Given the description of an element on the screen output the (x, y) to click on. 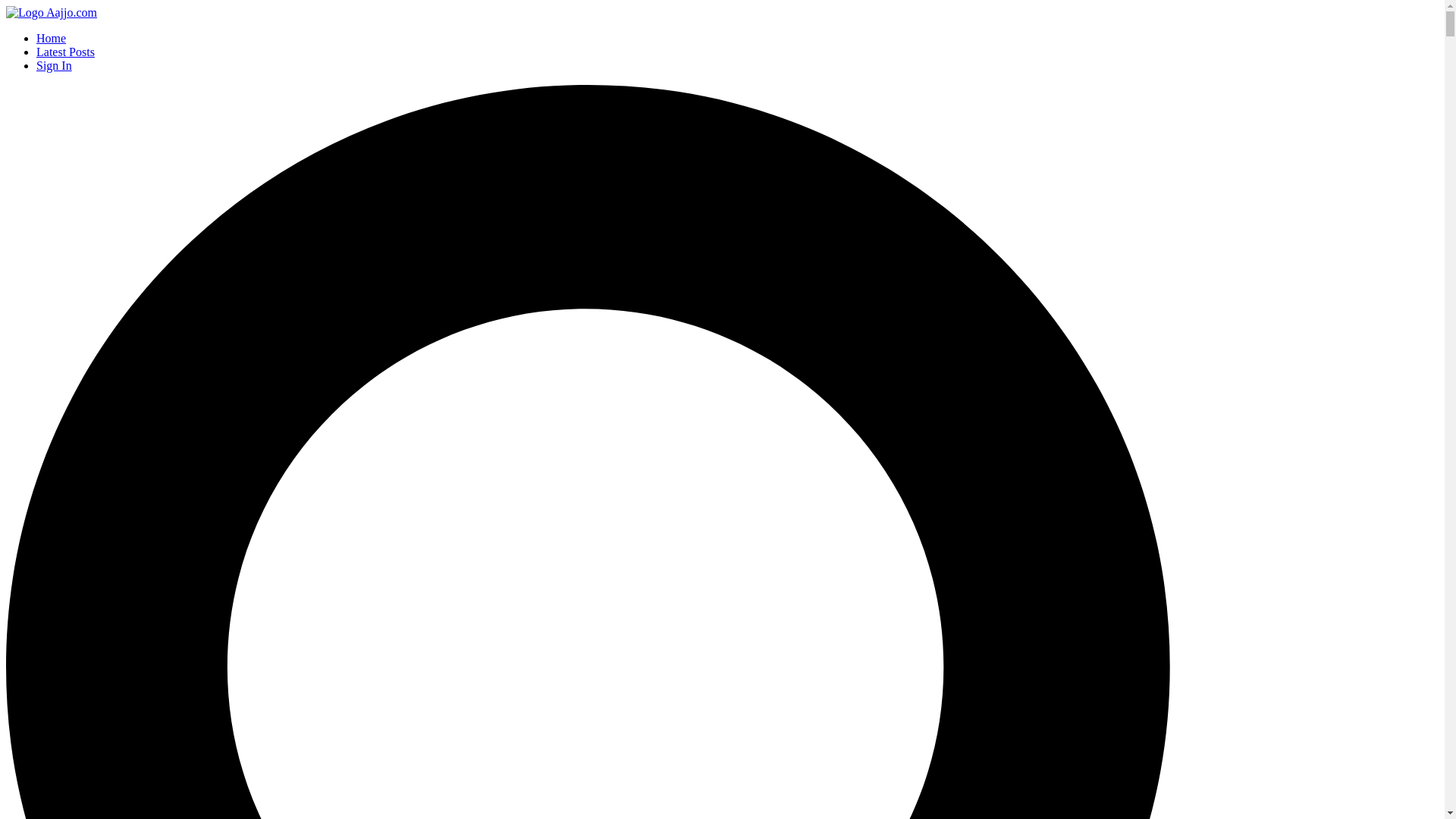
Home (51, 12)
Home (50, 38)
Latest Posts (65, 51)
Sign In (53, 65)
